Given the description of an element on the screen output the (x, y) to click on. 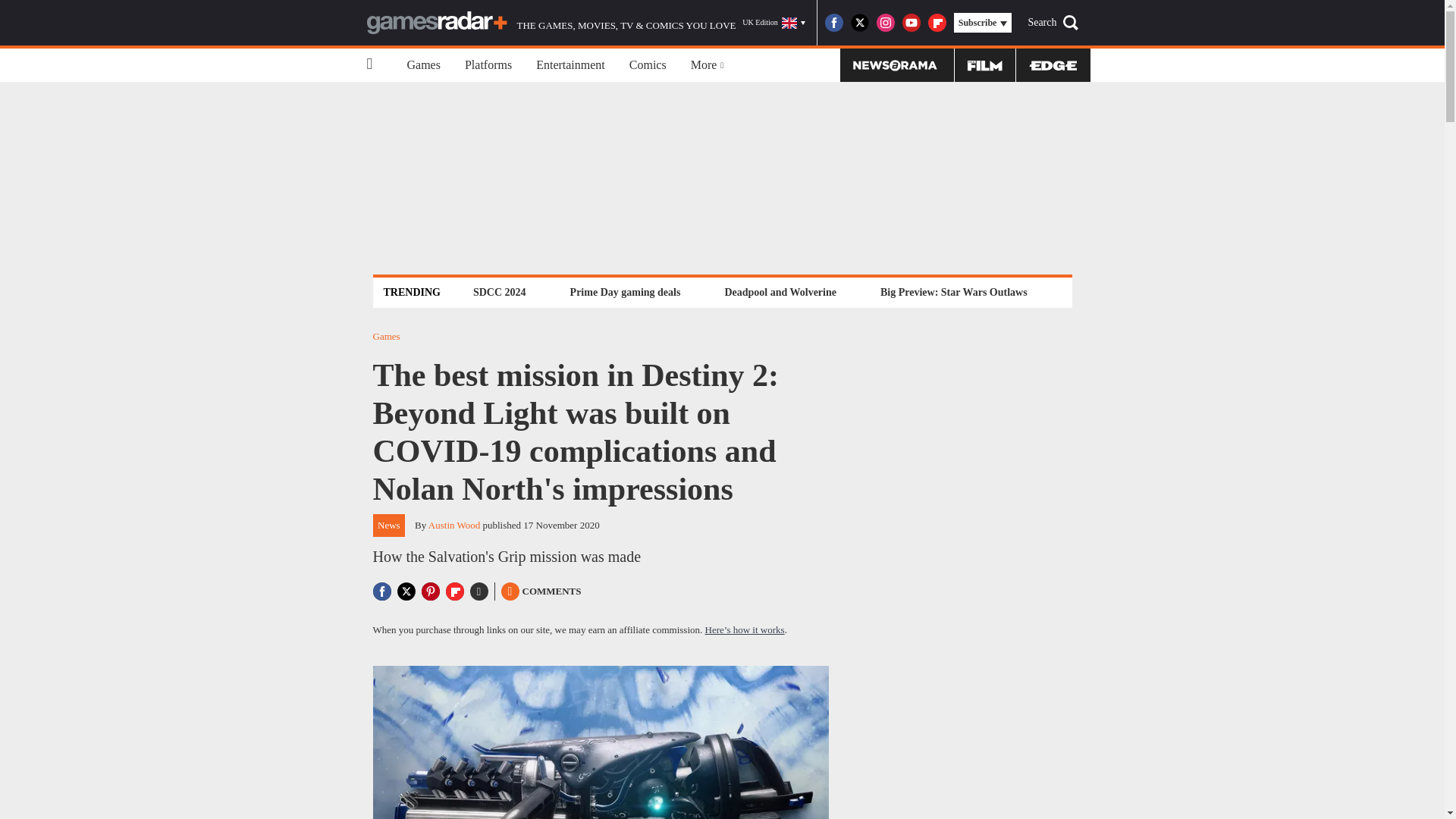
Entertainment (570, 64)
Platforms (488, 64)
Deadpool and Wolverine (780, 292)
Big Preview: Star Wars Outlaws (953, 292)
Comics (647, 64)
Prime Day gaming deals (624, 292)
UK Edition (773, 22)
SDCC 2024 (499, 292)
Games (422, 64)
